Given the description of an element on the screen output the (x, y) to click on. 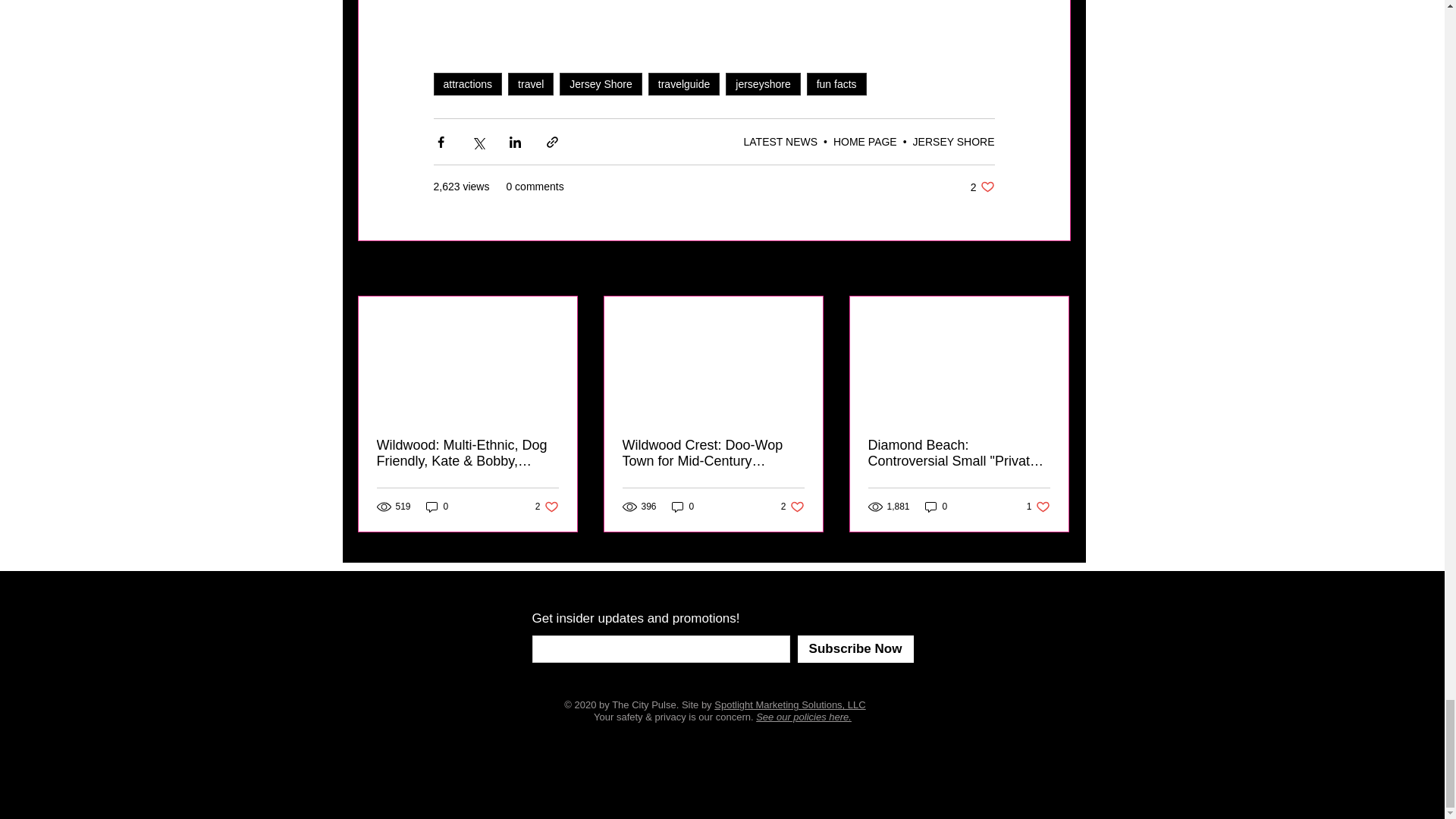
attractions (467, 83)
travel (530, 83)
